Given the description of an element on the screen output the (x, y) to click on. 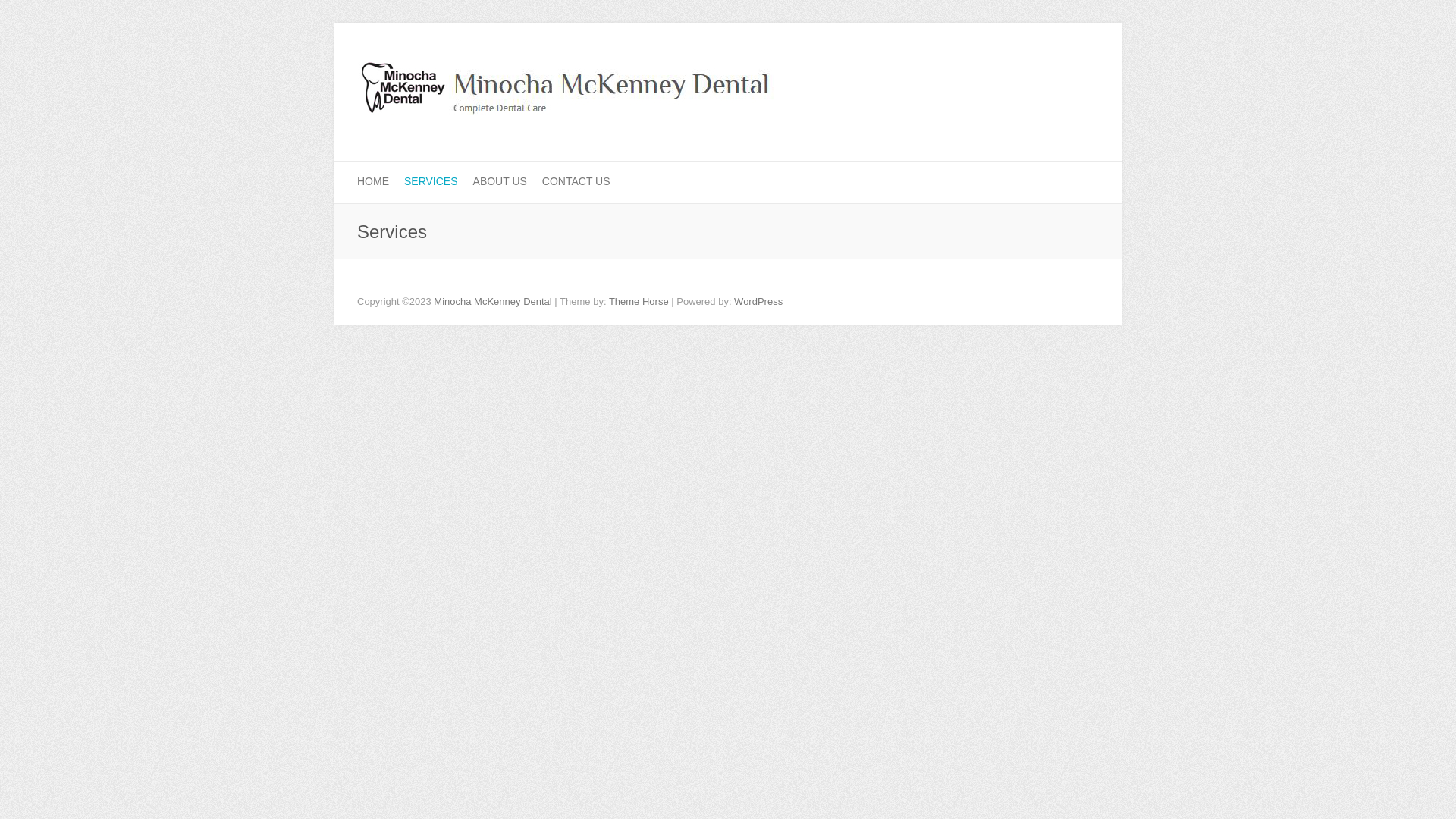
Theme Horse Element type: text (638, 301)
ABOUT US Element type: text (500, 182)
SERVICES Element type: text (431, 182)
Minocha McKenney Dental Element type: hover (565, 92)
CONTACT US Element type: text (576, 182)
WordPress Element type: text (758, 301)
HOME Element type: text (373, 182)
Minocha McKenney Dental Element type: text (492, 301)
